Given the description of an element on the screen output the (x, y) to click on. 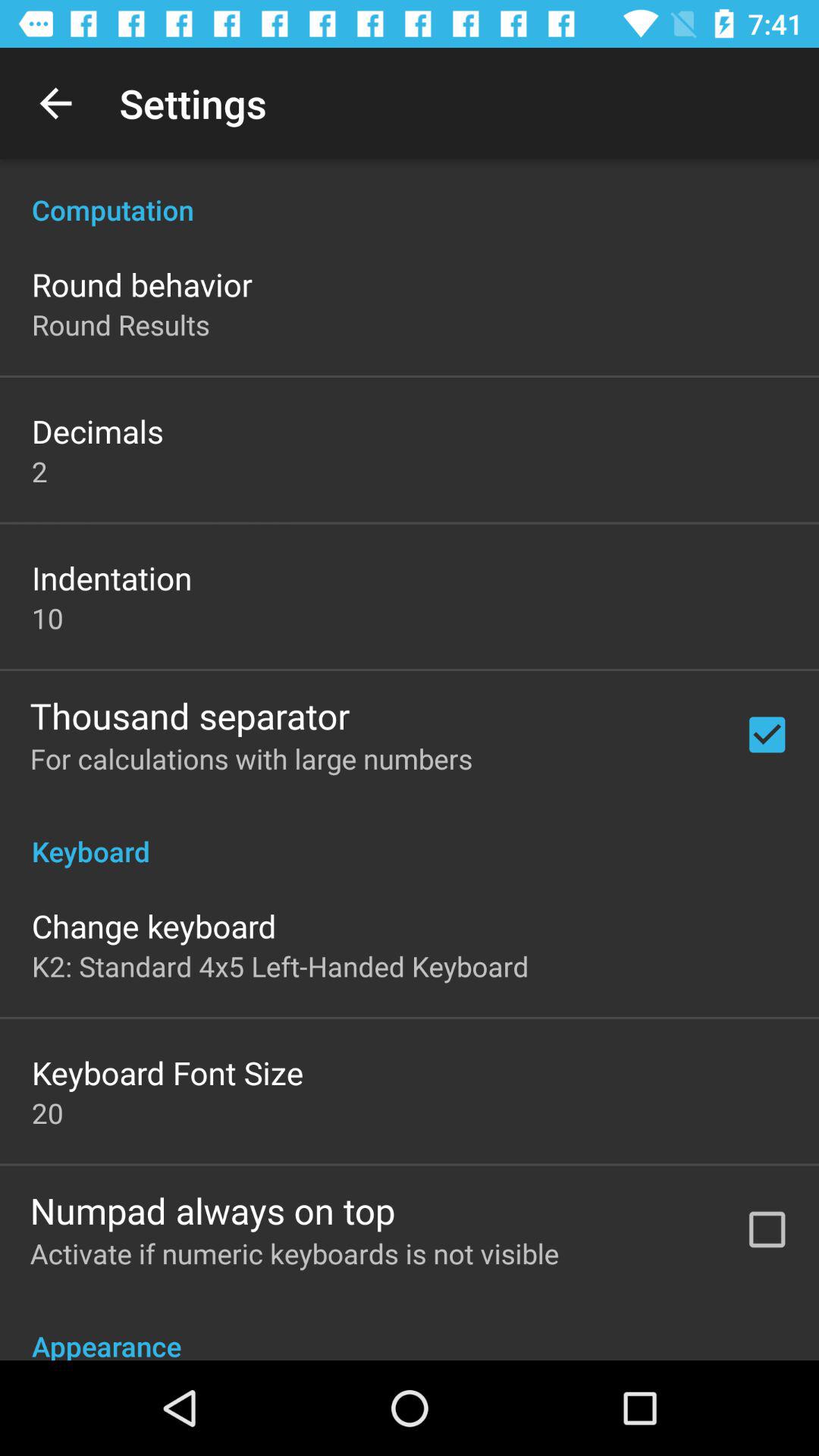
launch item above computation (55, 103)
